Given the description of an element on the screen output the (x, y) to click on. 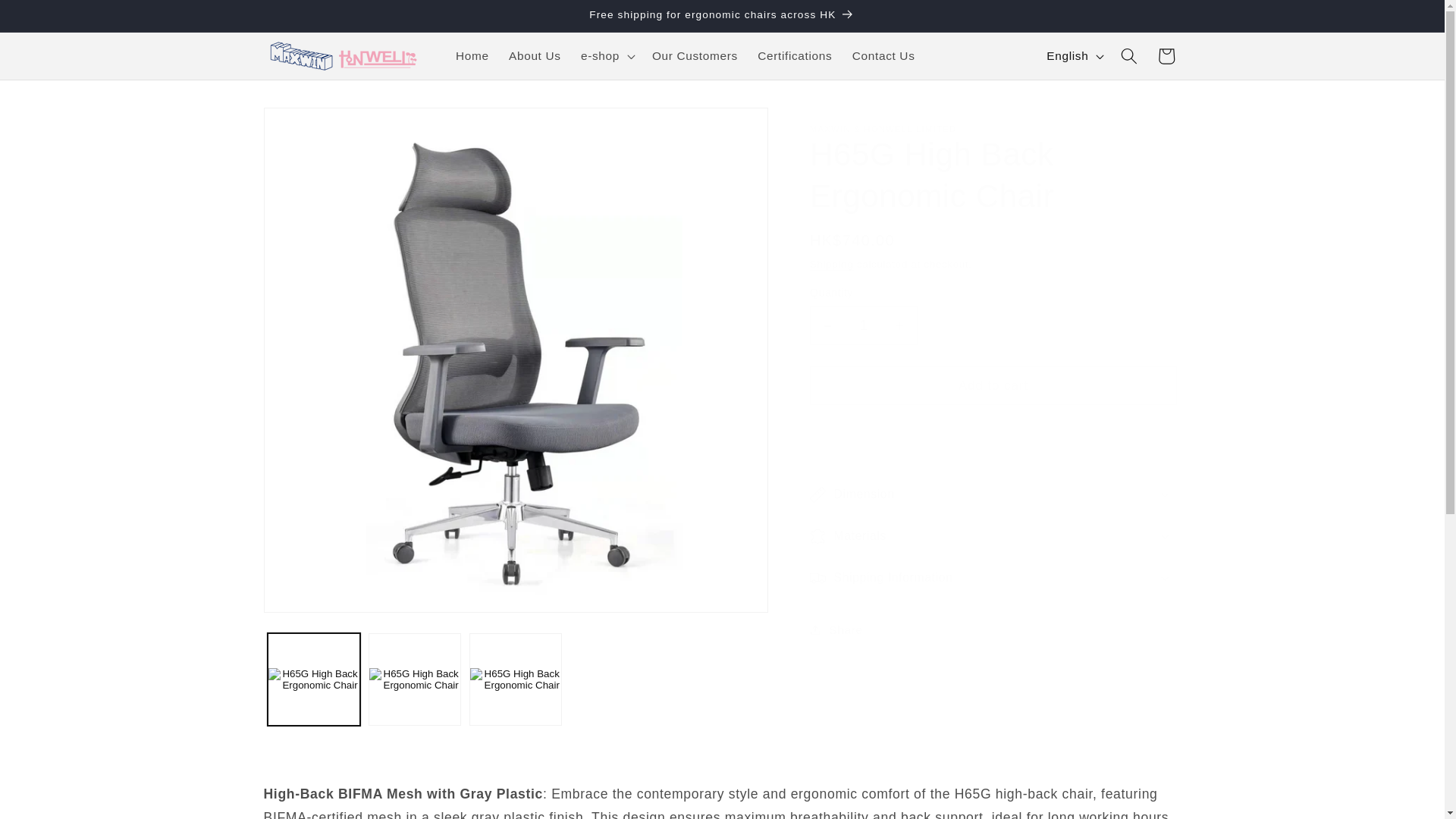
Home (472, 55)
Contact Us (883, 55)
About Us (534, 55)
Cart (1166, 55)
1 (863, 325)
Free shipping for ergonomic chairs across HK (721, 15)
Certifications (795, 55)
English (1073, 56)
Skip to content (50, 19)
